Given the description of an element on the screen output the (x, y) to click on. 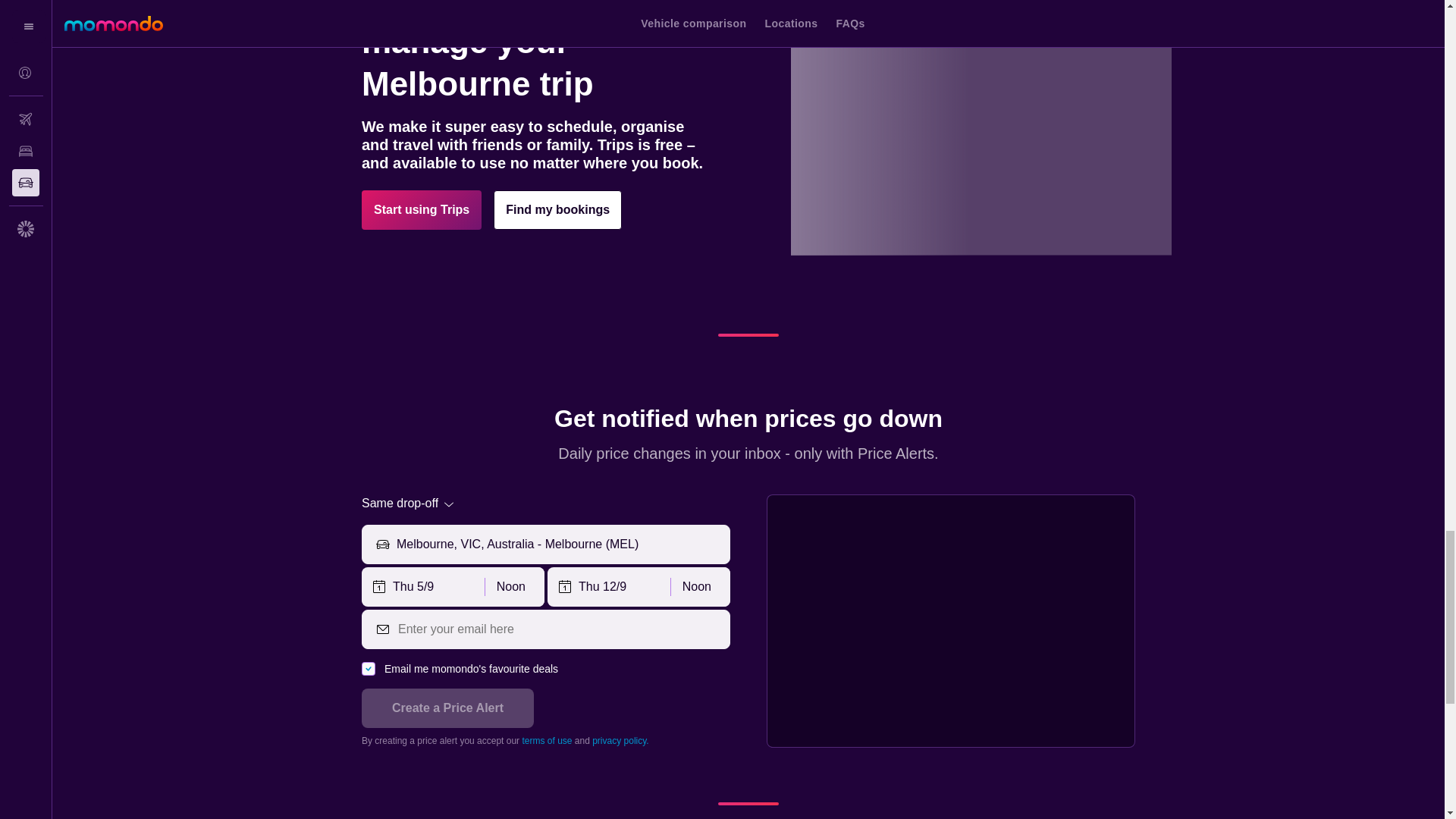
terms of use (546, 740)
Create a Price Alert (447, 708)
Find my bookings (557, 210)
Start using Trips (421, 210)
privacy policy. (619, 740)
